Given the description of an element on the screen output the (x, y) to click on. 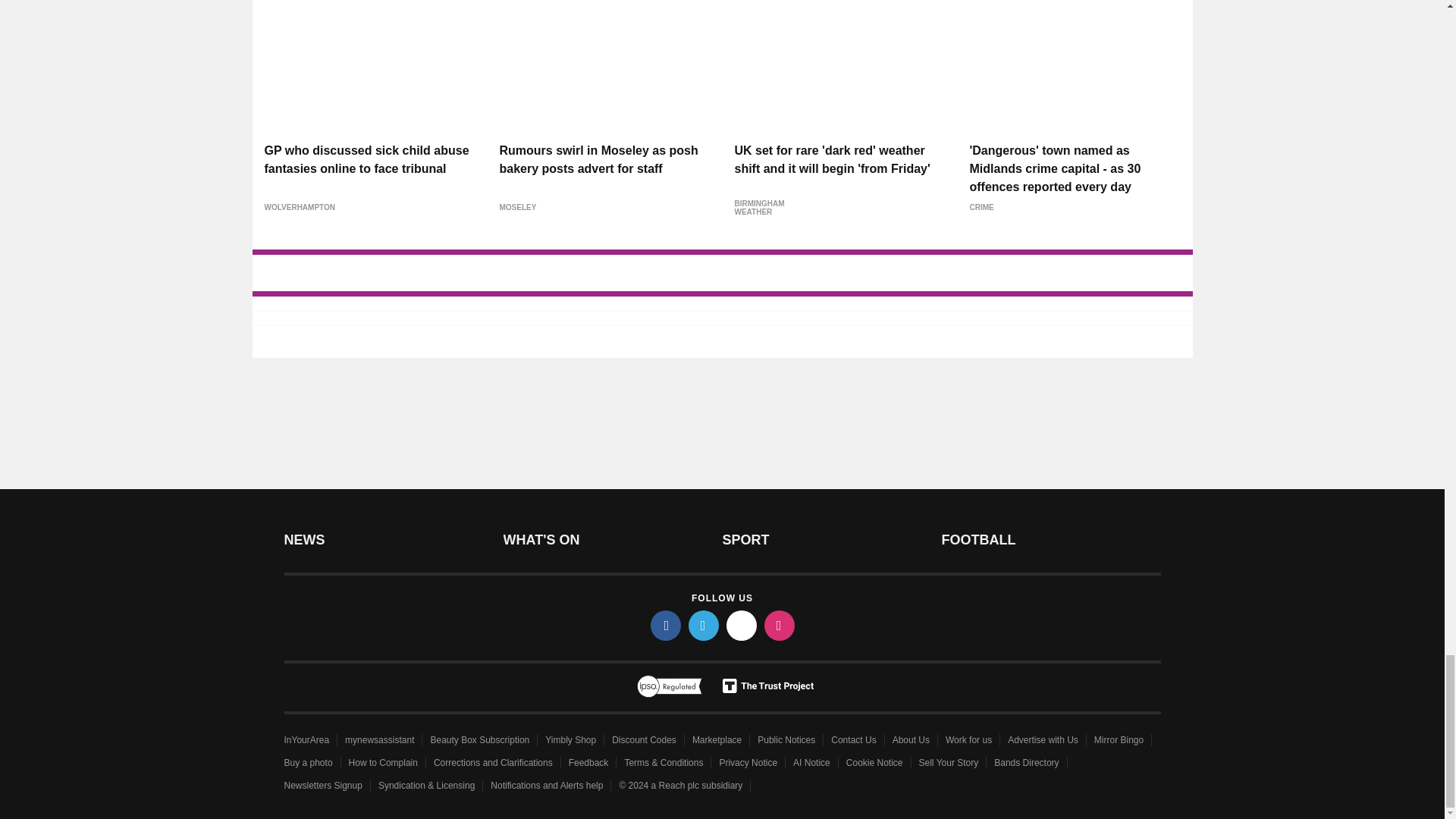
instagram (779, 625)
facebook (665, 625)
twitter (703, 625)
tiktok (741, 625)
